Given the description of an element on the screen output the (x, y) to click on. 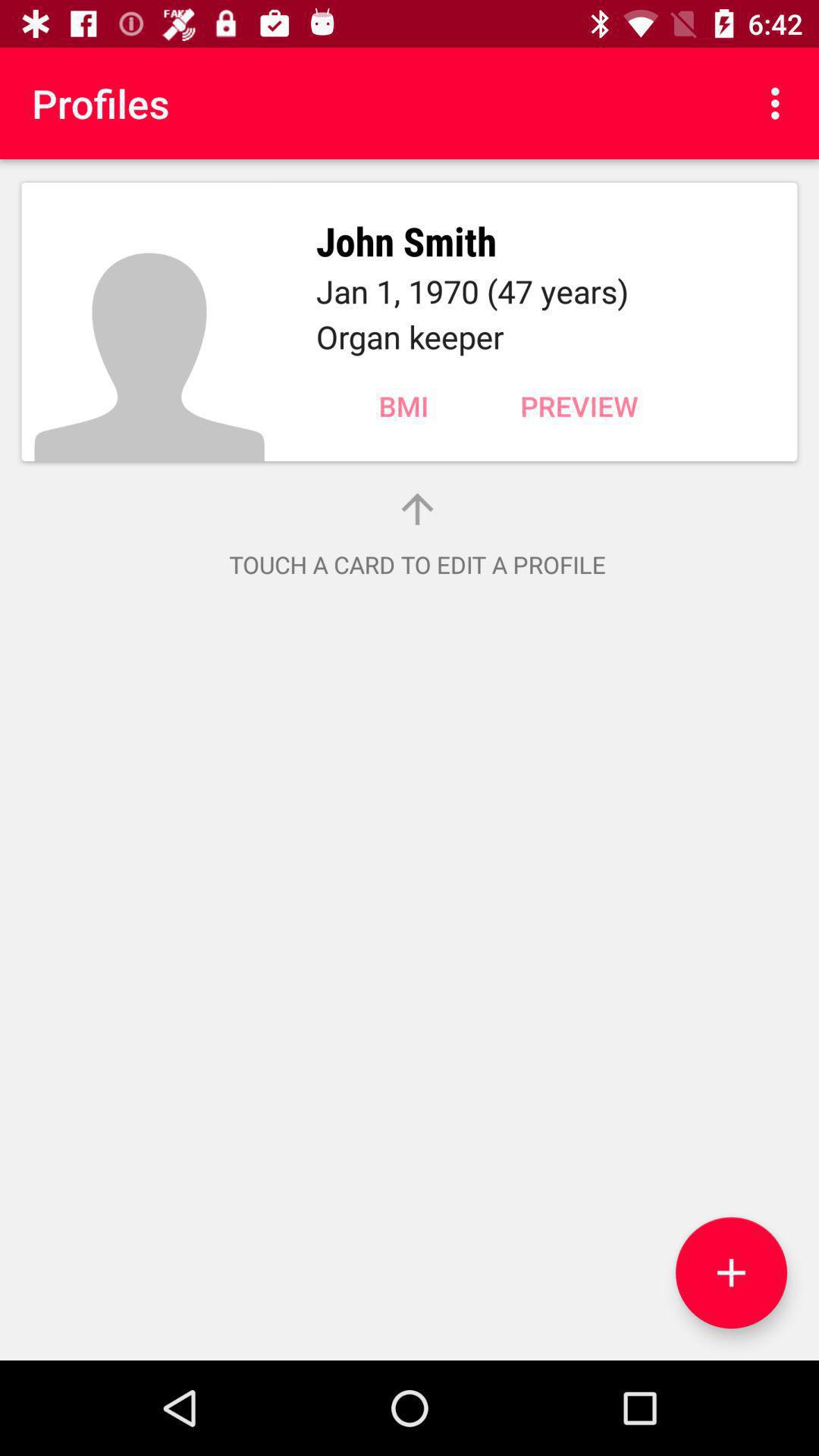
choose the icon to the left of preview (403, 405)
